Given the description of an element on the screen output the (x, y) to click on. 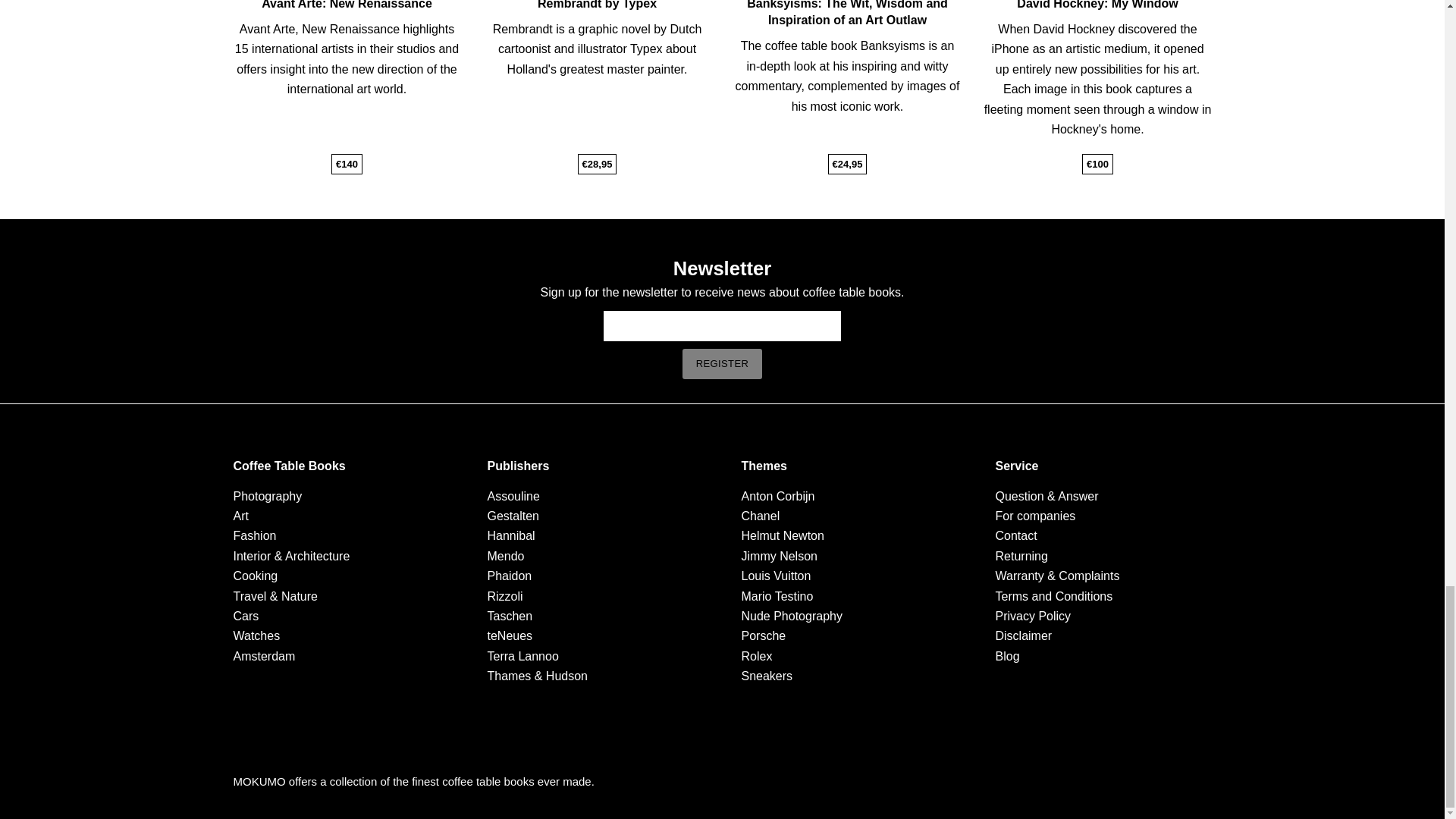
andy-the-life-and-times-of-andy (634, 21)
HugoMulder-DHM1 (884, 13)
REGISTER (722, 363)
